Given the description of an element on the screen output the (x, y) to click on. 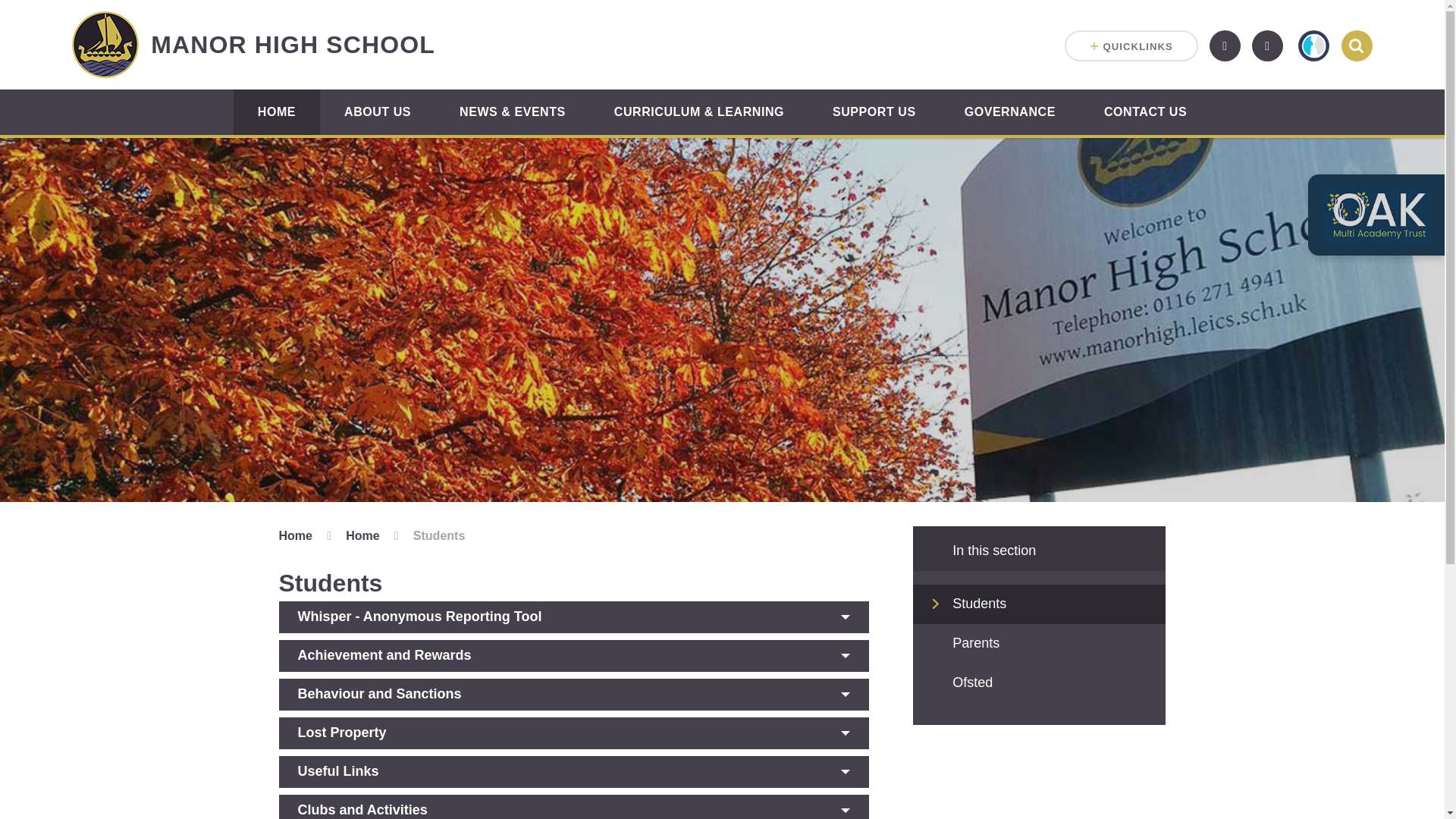
ABOUT US (377, 112)
HOME (276, 112)
Twitter (1224, 45)
Facebook (1267, 45)
Whisper Anonymous Reporting (1313, 45)
MANOR HIGH SCHOOL (253, 44)
